Given the description of an element on the screen output the (x, y) to click on. 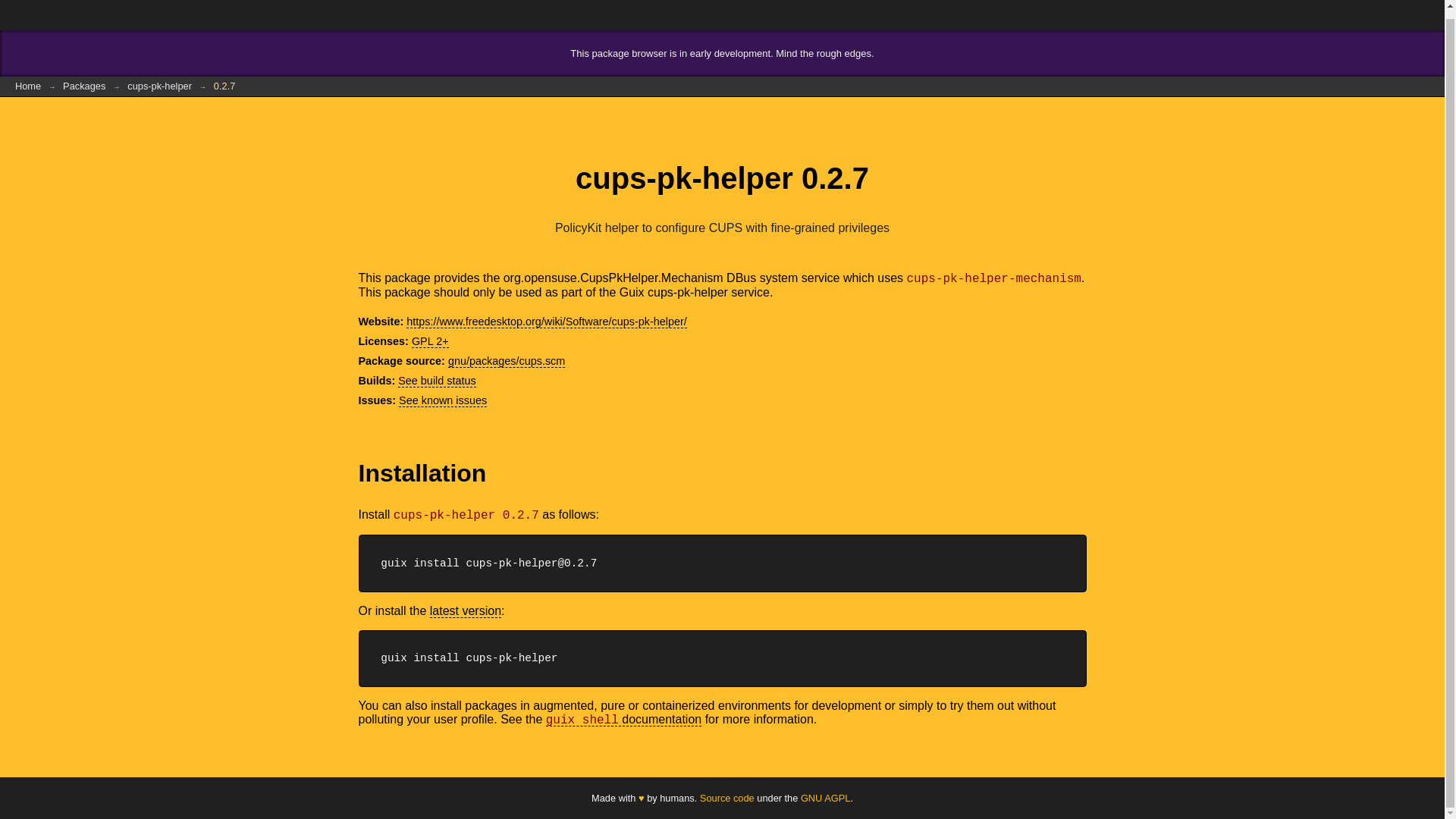
GNU Guix (60, 15)
guix shell documentation (623, 719)
cups-pk-helper (159, 86)
See known issues (442, 400)
0.2.7 (223, 86)
Home (28, 86)
GNU AGPL (825, 797)
Packages (84, 86)
Primary menu (1421, 15)
Source code (727, 797)
latest version (464, 610)
See build status (436, 380)
